Given the description of an element on the screen output the (x, y) to click on. 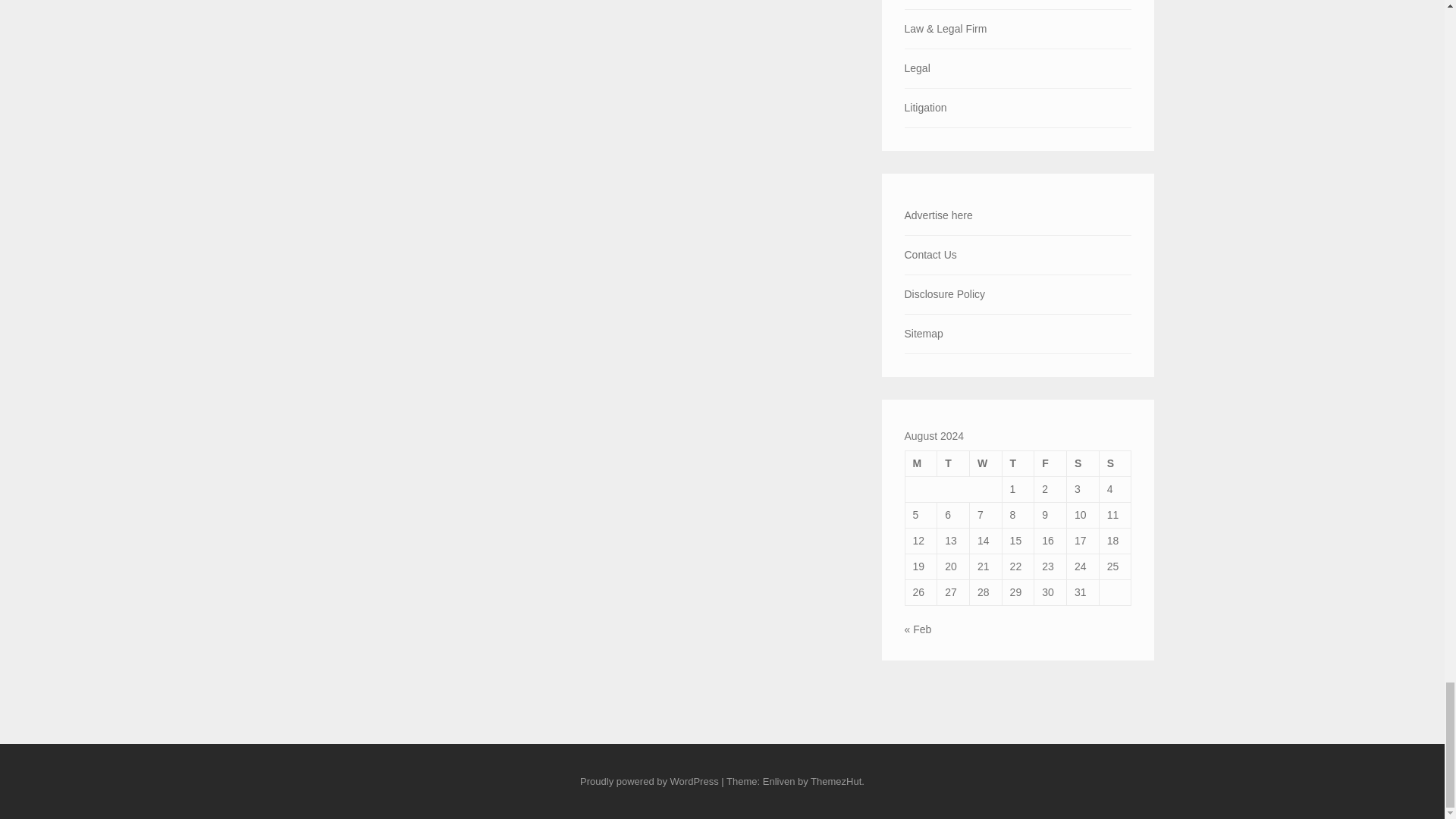
Saturday (1083, 462)
Friday (1050, 462)
Thursday (1017, 462)
Monday (920, 462)
Tuesday (953, 462)
Sunday (1115, 462)
Wednesday (985, 462)
